Given the description of an element on the screen output the (x, y) to click on. 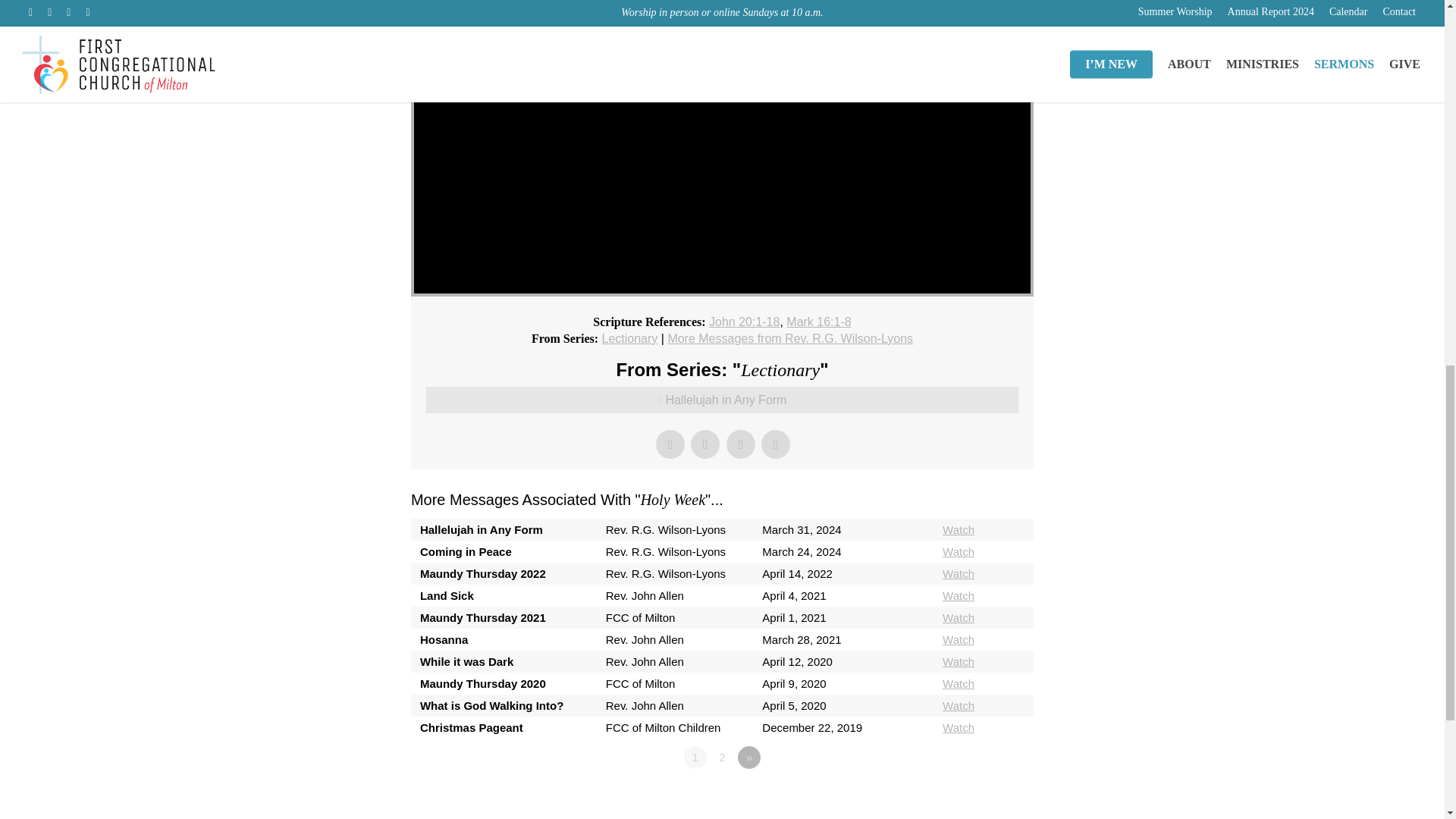
John 20:1-18 (743, 321)
Mark 16:1-8 (818, 321)
Hallelujah in Any Form (722, 399)
Lectionary (630, 338)
More Messages from Rev. R.G. Wilson-Lyons (789, 338)
